Given the description of an element on the screen output the (x, y) to click on. 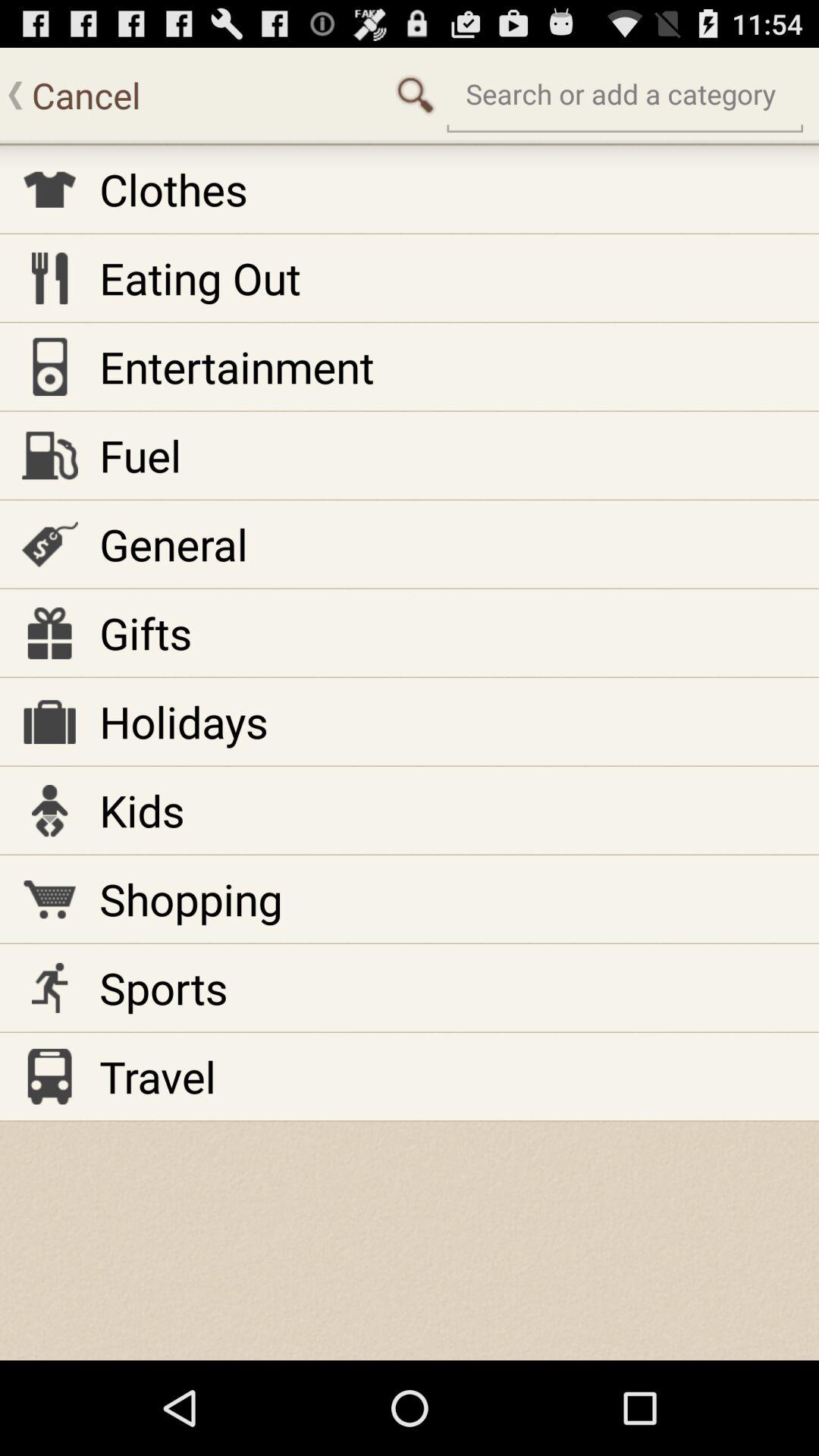
click item below fuel (173, 544)
